Given the description of an element on the screen output the (x, y) to click on. 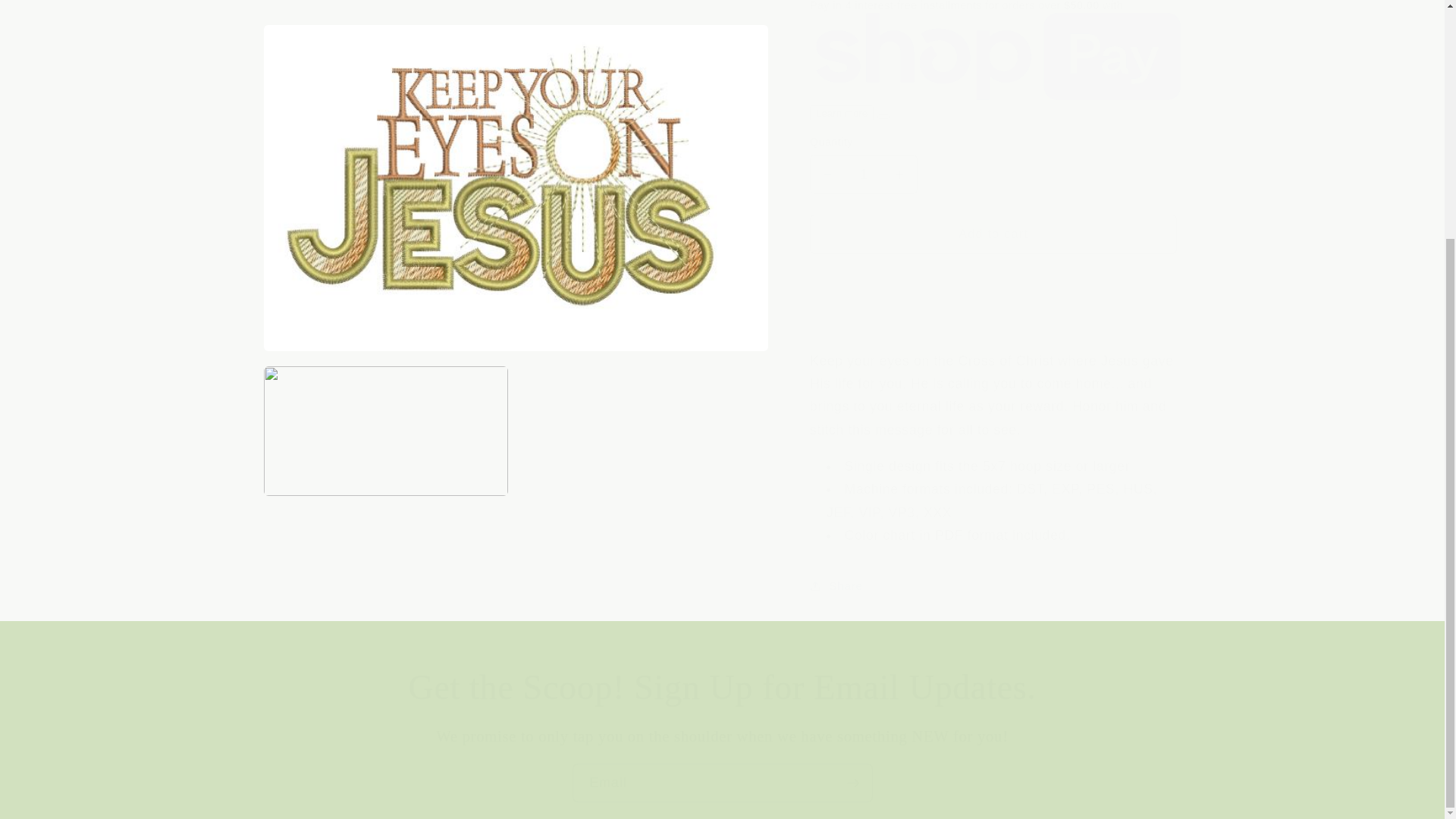
Open media 1 in modal (515, 81)
Get the Scoop! Sign Up for Email Updates. (722, 687)
Email (722, 783)
1 (863, 160)
Open media 2 in modal (385, 242)
